Given the description of an element on the screen output the (x, y) to click on. 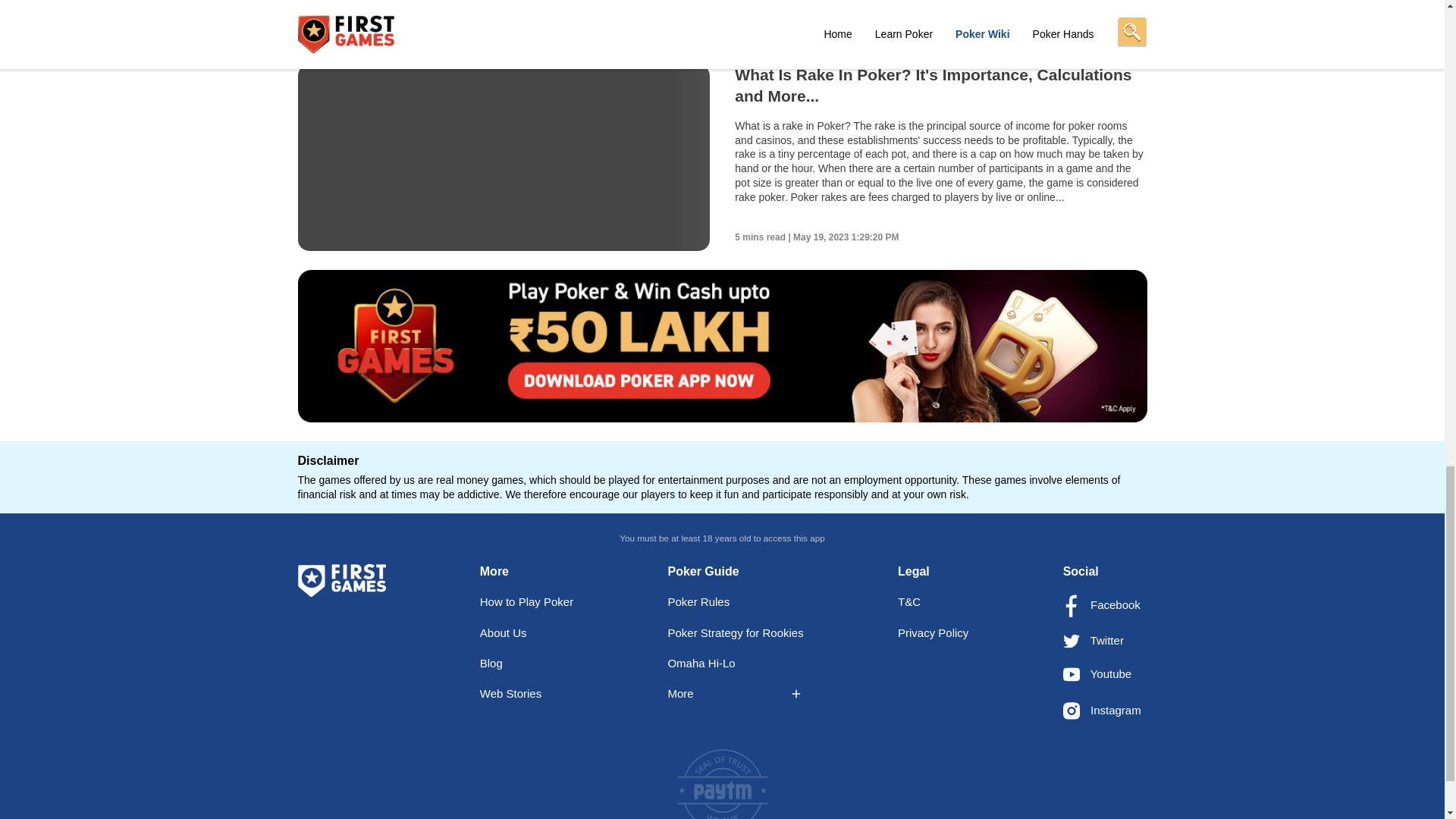
Poker Strategy for Rookies (734, 632)
Instagram (1101, 709)
Poker Rules (697, 601)
Omaha Hi-Lo (700, 662)
How to Play Poker (526, 601)
Web Stories (510, 693)
About Us (503, 632)
Facebook (1101, 604)
Youtube (1097, 673)
Blog (491, 662)
Privacy Policy (933, 632)
Twitter (1093, 640)
